Given the description of an element on the screen output the (x, y) to click on. 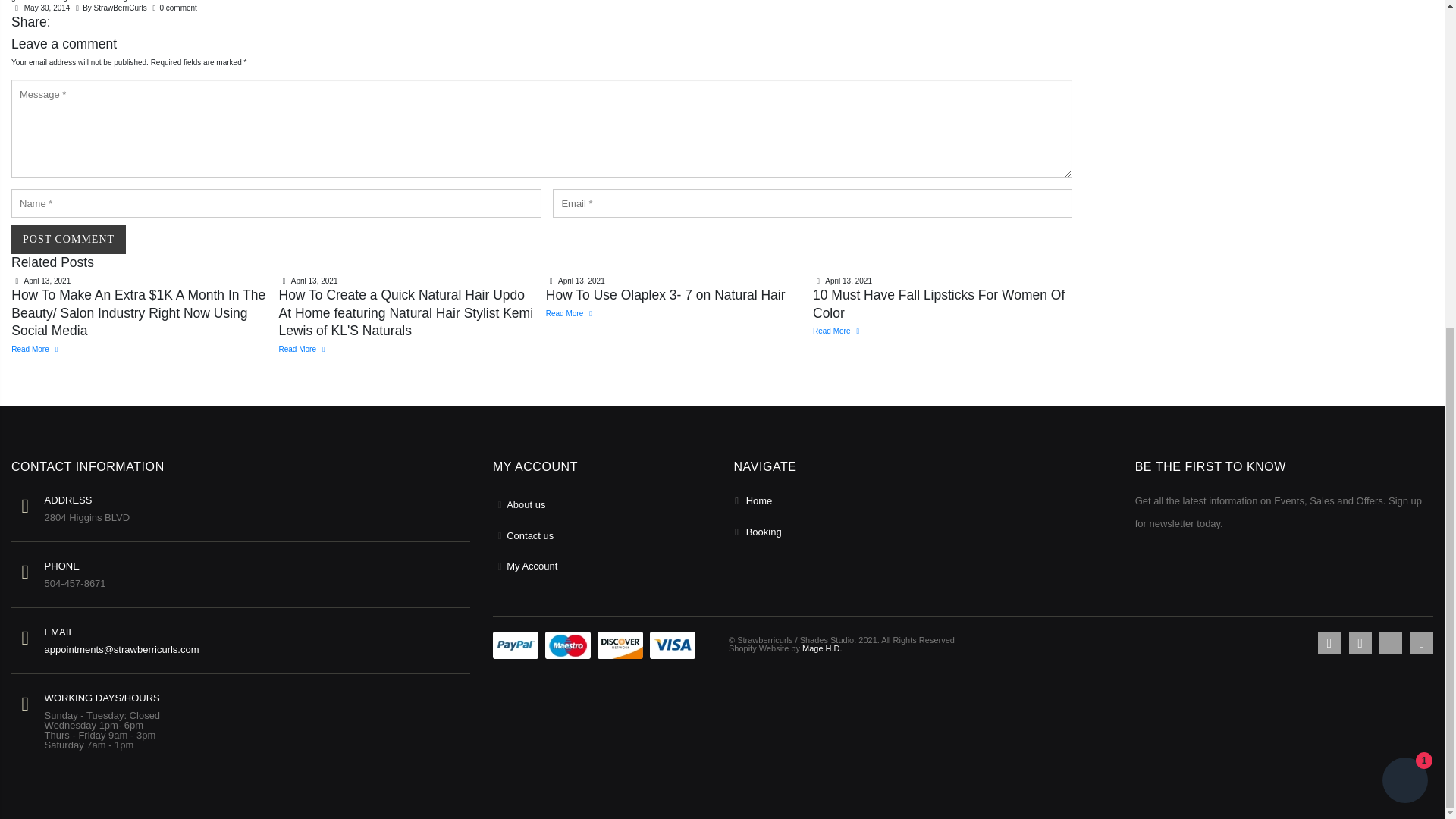
Twitter (1360, 642)
Pinterest (1390, 642)
Facebook (1328, 642)
Post comment (68, 239)
My Account (531, 565)
Post comment (68, 239)
About us (525, 504)
Instagram (1421, 642)
Contact Us (529, 535)
